Given the description of an element on the screen output the (x, y) to click on. 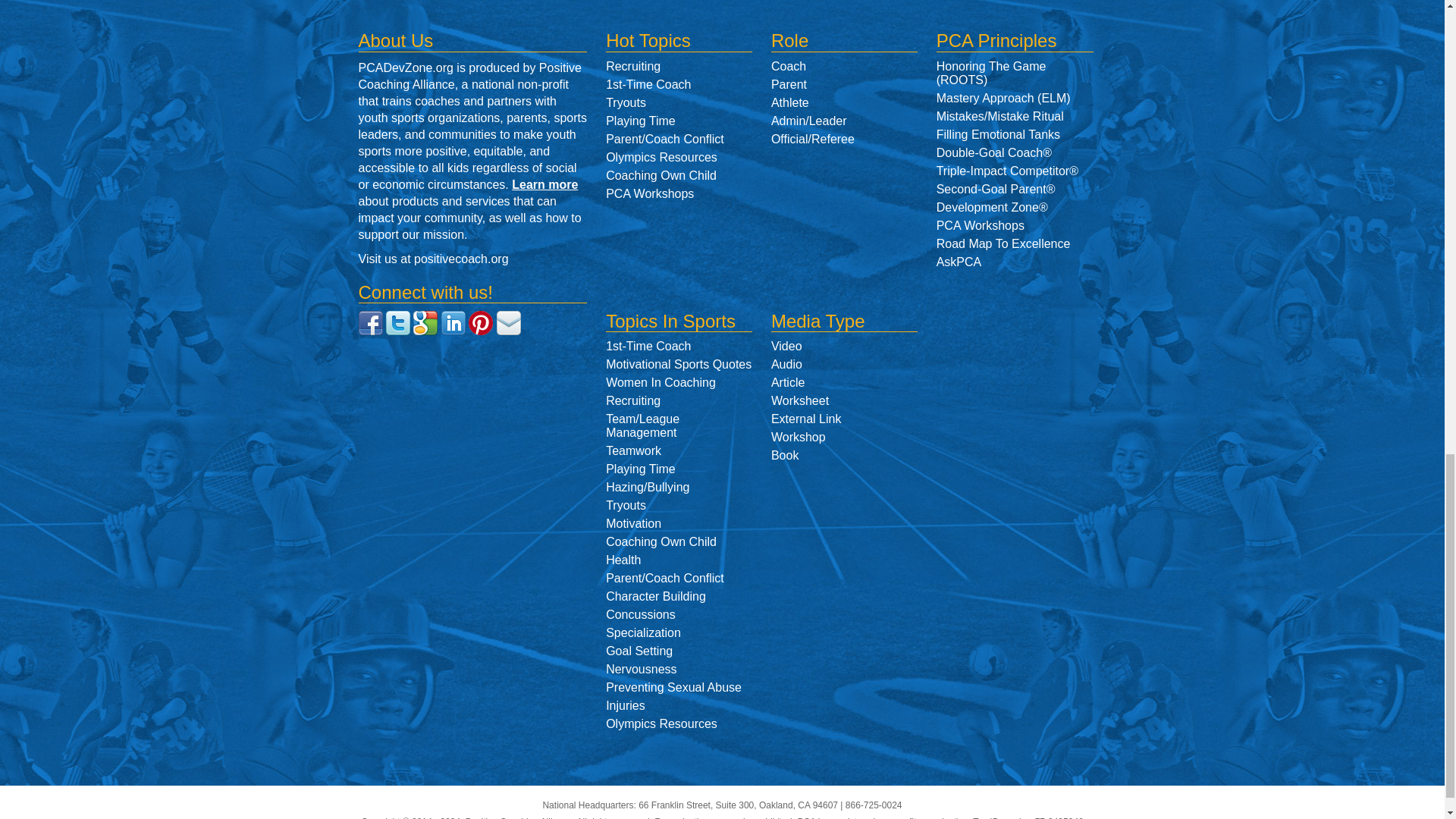
positivecoach.org (460, 258)
